Given the description of an element on the screen output the (x, y) to click on. 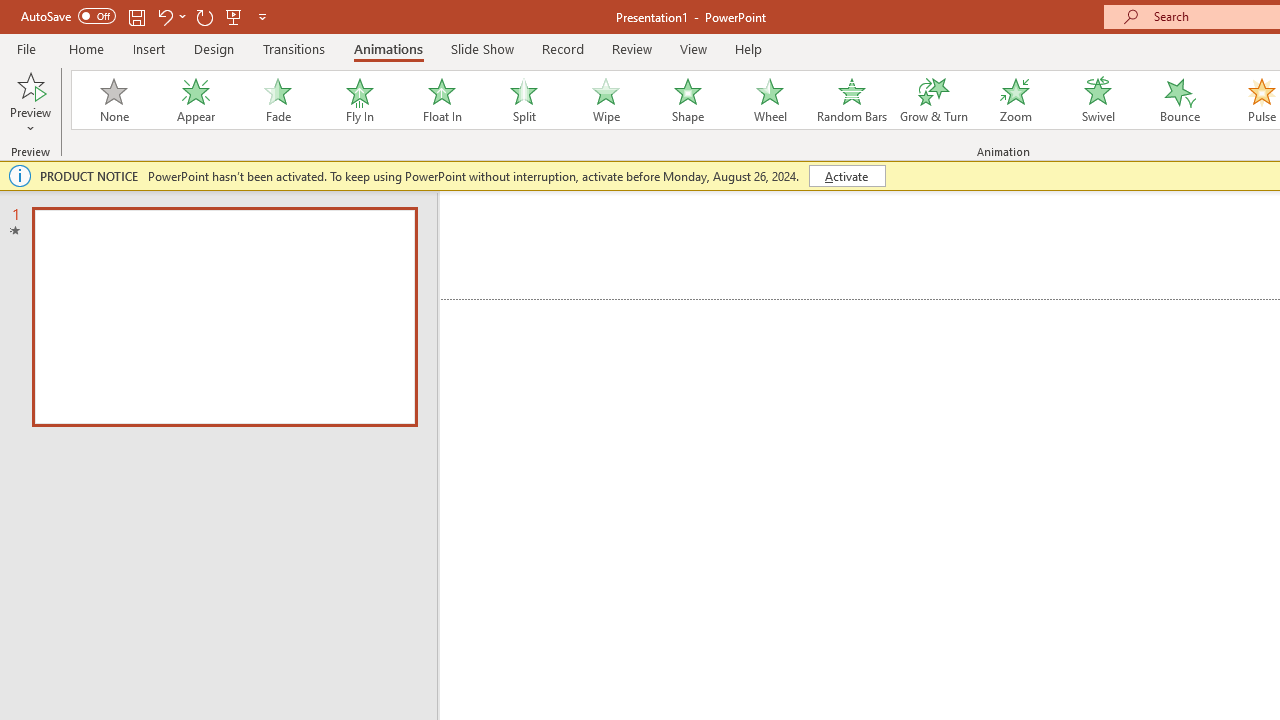
Float In (441, 100)
Swivel (1098, 100)
Random Bars (852, 100)
Preview (30, 102)
Fade (277, 100)
